Given the description of an element on the screen output the (x, y) to click on. 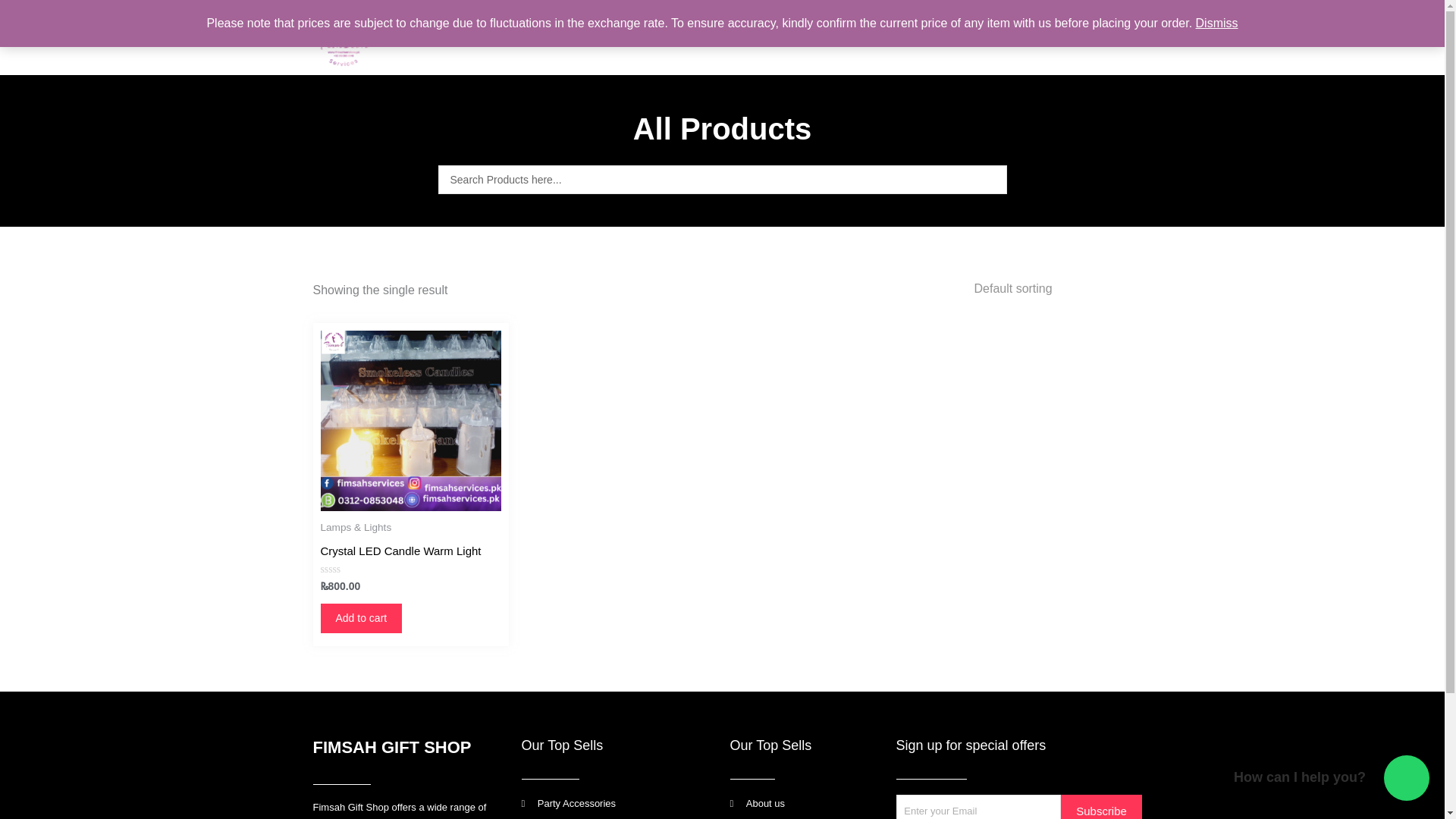
Contact us (891, 37)
Home (636, 37)
Dismiss (1217, 22)
My Shop (715, 37)
About us (804, 803)
How can I help you? (1406, 777)
My account (989, 37)
Add to cart (360, 617)
Subscribe (1101, 806)
Crystal LED Candle Warm Light (400, 553)
About us (800, 37)
